Given the description of an element on the screen output the (x, y) to click on. 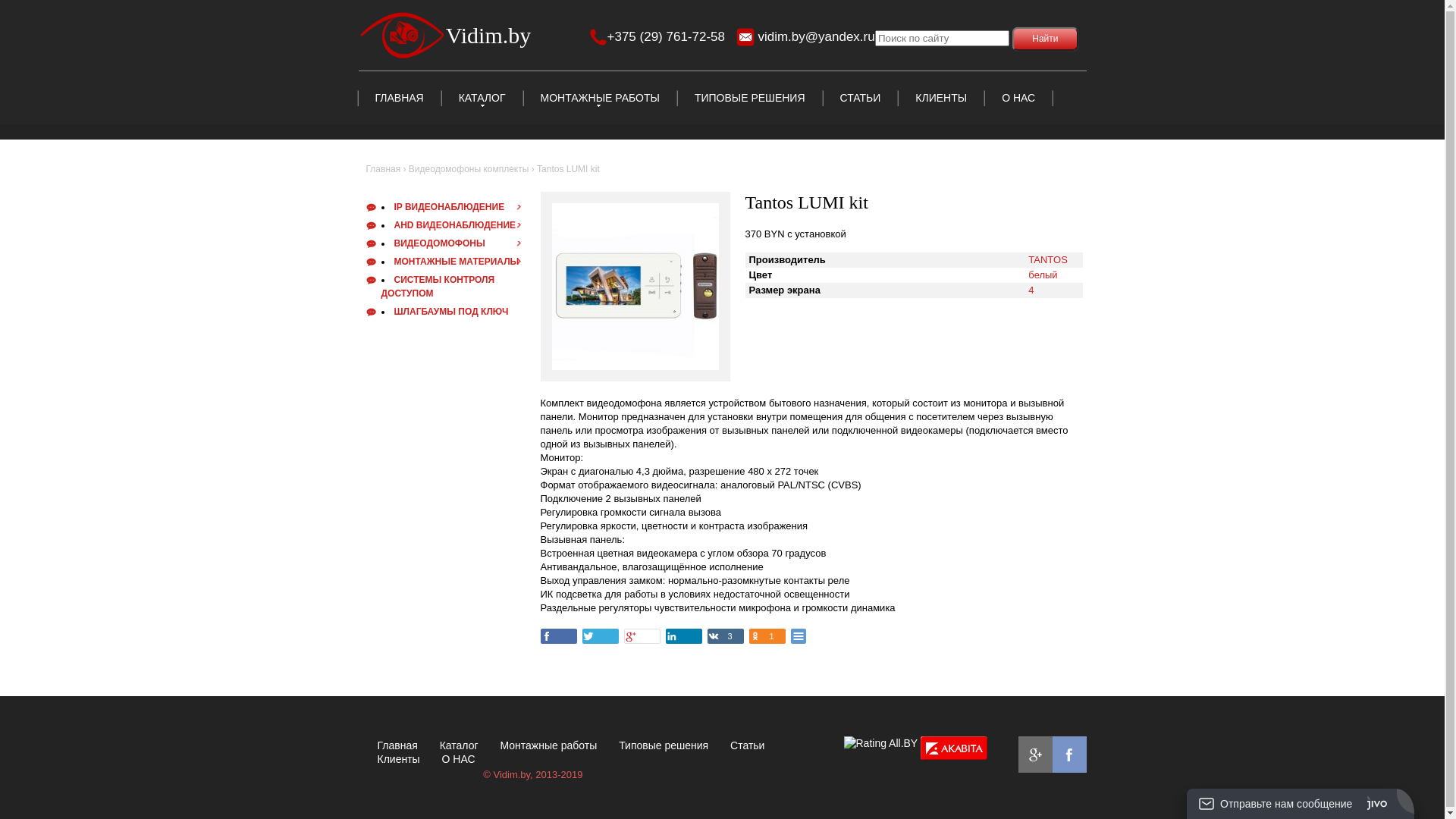
3 Element type: text (724, 635)
Twitter Element type: hover (600, 635)
Facebook Element type: text (1074, 760)
Facebook Element type: hover (557, 635)
1 Element type: text (767, 635)
Google+ Element type: text (1040, 760)
Tantos LUMI kit Element type: hover (635, 209)
Google+ Element type: hover (641, 635)
Vidim.by Element type: text (444, 34)
LinkedIn Element type: hover (683, 635)
